Given the description of an element on the screen output the (x, y) to click on. 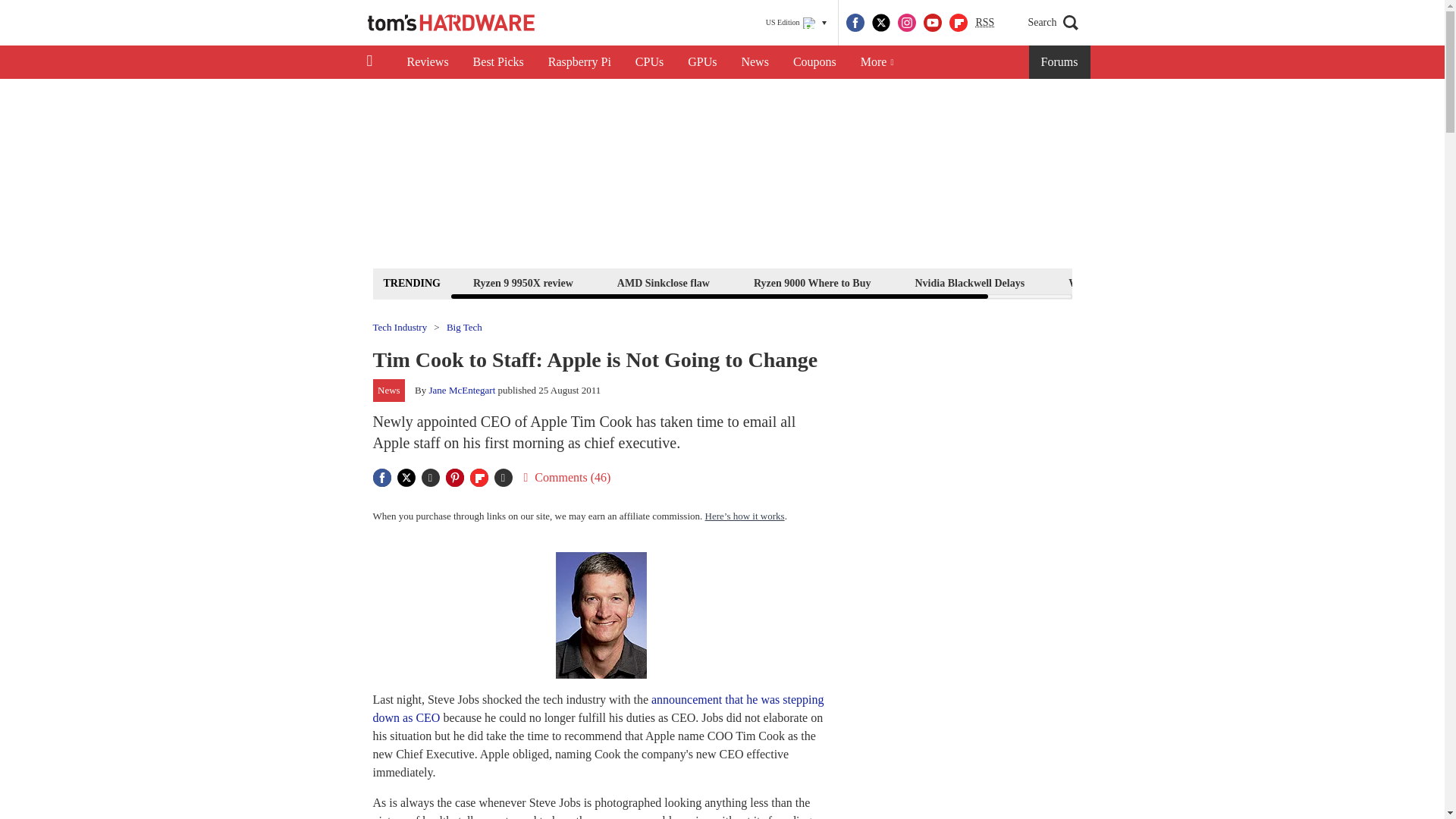
Ryzen 9 9950X review (522, 282)
Raspberry Pi (579, 61)
US Edition (796, 22)
Really Simple Syndication (984, 21)
News (754, 61)
Reviews (427, 61)
Best Picks (498, 61)
RSS (984, 22)
CPUs (649, 61)
Coupons (814, 61)
